Given the description of an element on the screen output the (x, y) to click on. 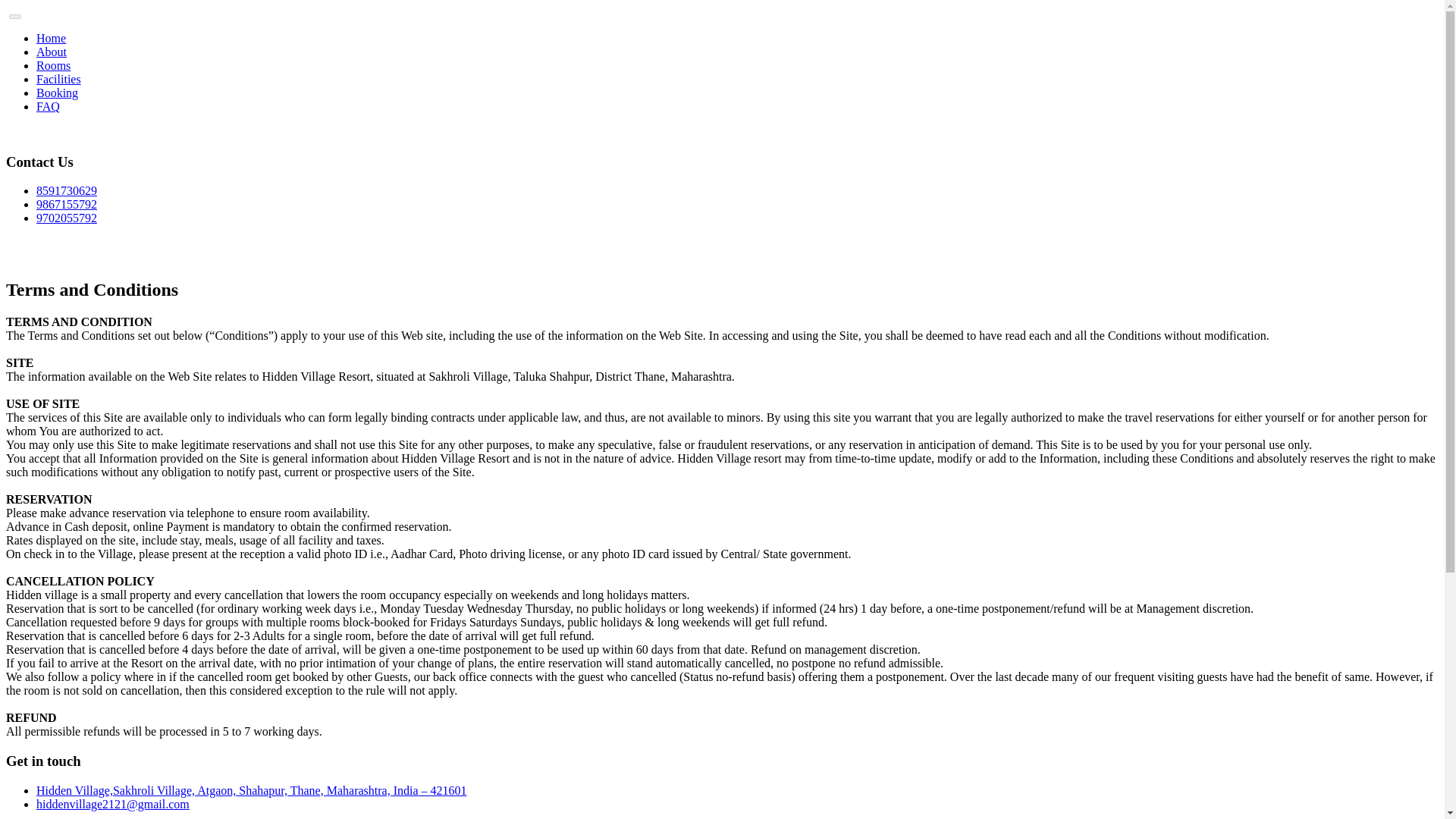
9702055792 (66, 217)
Booking (57, 92)
Home (50, 38)
Rooms (52, 65)
9867155792 (66, 204)
8591730629 (66, 190)
FAQ (47, 106)
Facilities (58, 78)
About (51, 51)
